Given the description of an element on the screen output the (x, y) to click on. 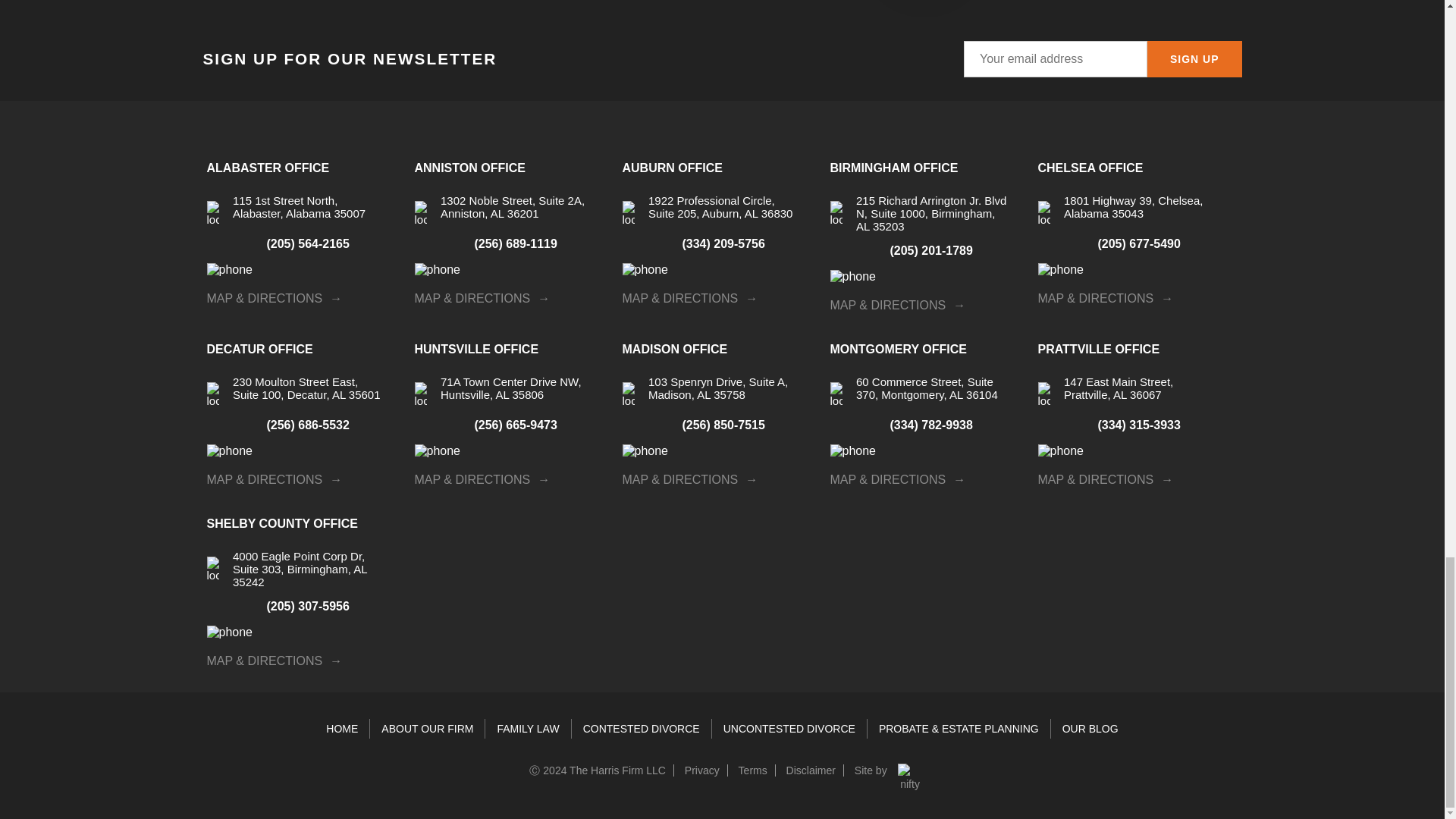
Sign up (1194, 58)
